Given the description of an element on the screen output the (x, y) to click on. 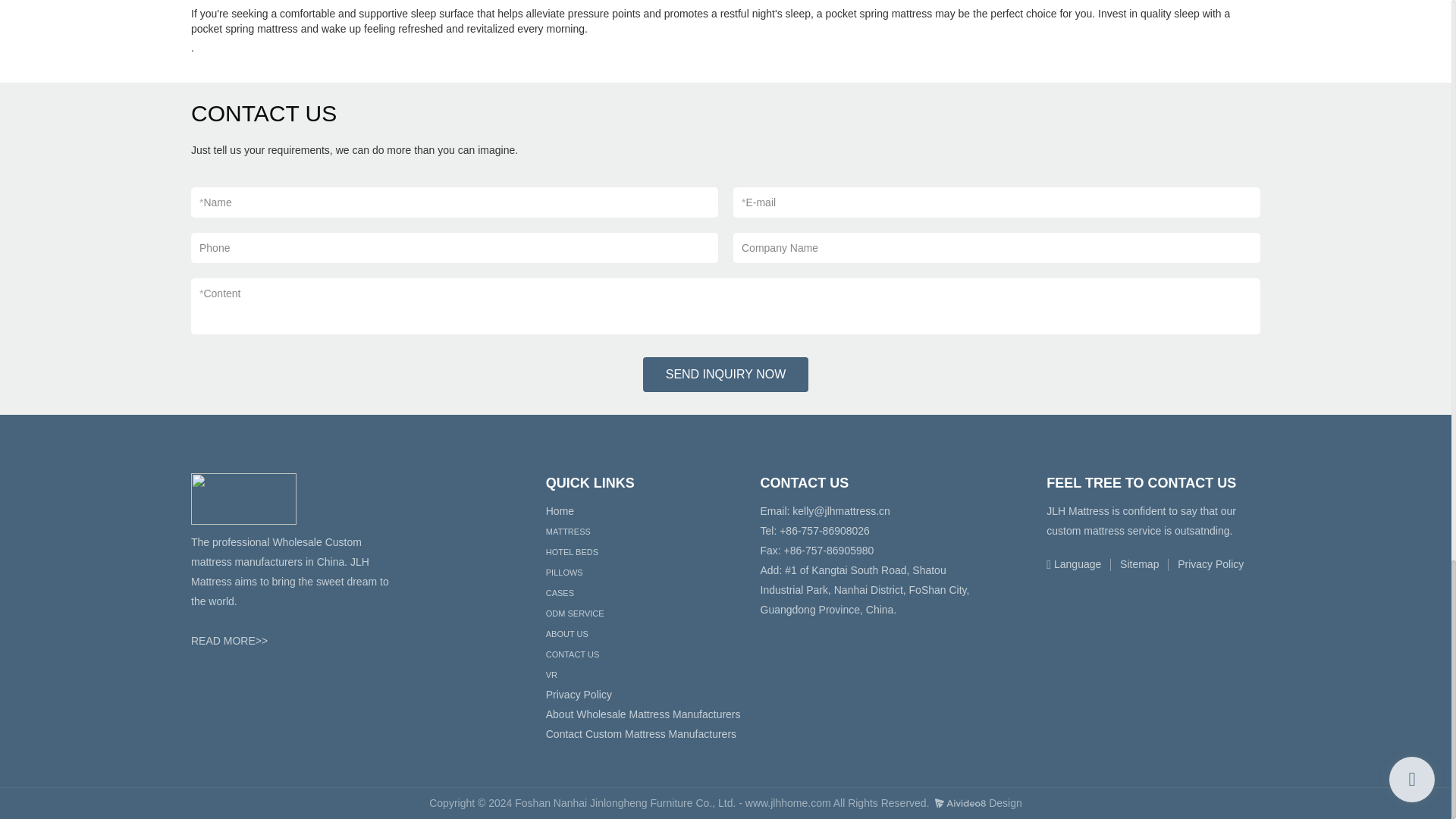
Home (559, 510)
SEND INQUIRY NOW (726, 374)
